Given the description of an element on the screen output the (x, y) to click on. 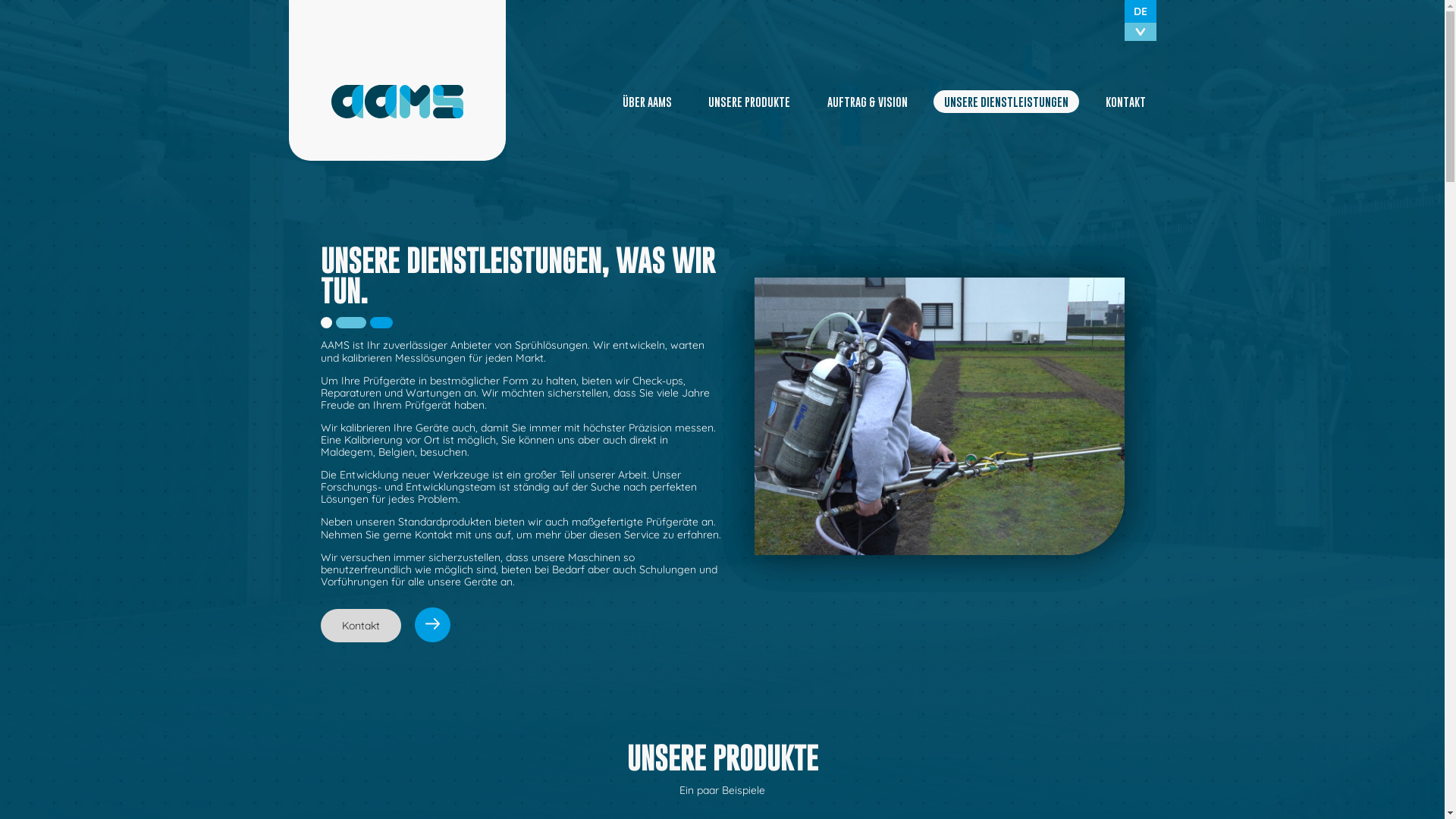
DE Element type: text (1139, 11)
KONTAKT Element type: text (1125, 101)
Kontakt Element type: text (360, 625)
UNSERE DIENSTLEISTUNGEN Element type: text (1006, 101)
AUFTRAG & VISION Element type: text (866, 101)
Kontakt Element type: text (384, 625)
UNSERE PRODUKTE Element type: text (748, 101)
